Given the description of an element on the screen output the (x, y) to click on. 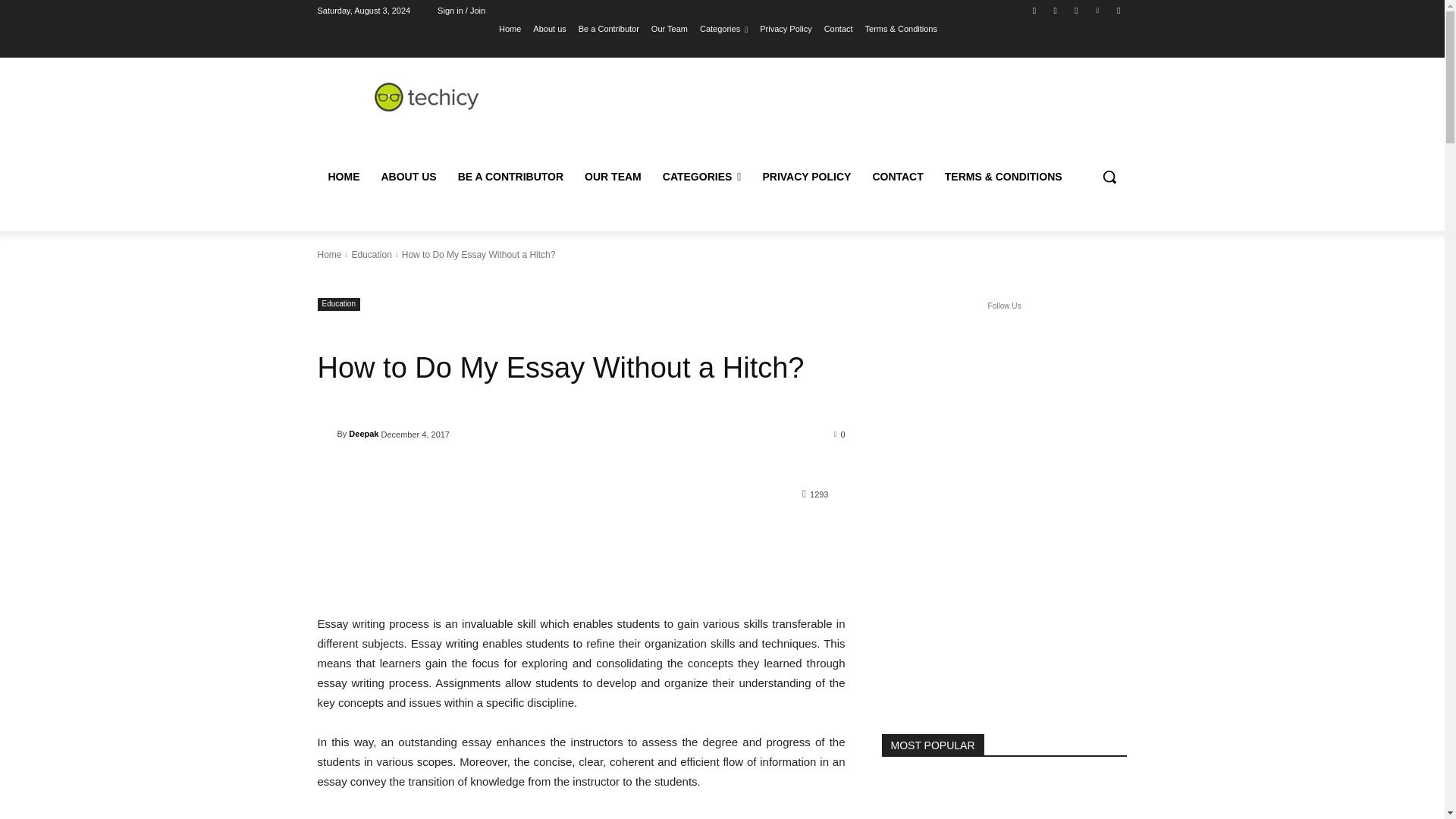
Contact (838, 28)
About us (549, 28)
Categories (724, 28)
Home (510, 28)
Facebook (1034, 9)
Be a Contributor (608, 28)
Our Team (668, 28)
View all posts in Education (370, 254)
Privacy Policy (785, 28)
Vimeo (1097, 9)
Youtube (1117, 9)
Deepak (326, 433)
Twitter (1075, 9)
Instagram (1055, 9)
